Given the description of an element on the screen output the (x, y) to click on. 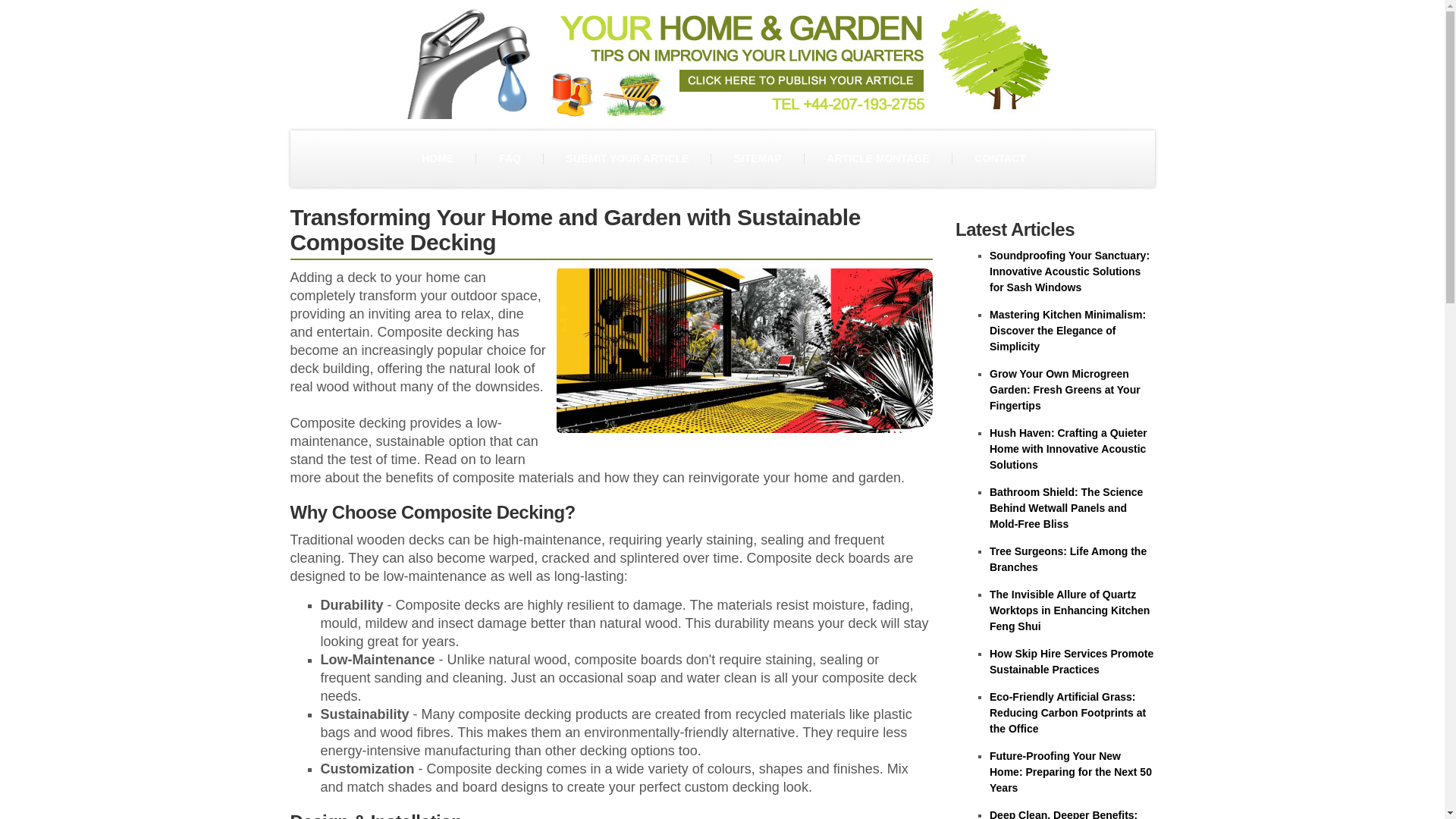
FAQ (509, 158)
SUBMIT YOUR ARTICLE (627, 158)
How Skip Hire Services Promote Sustainable Practices (1071, 661)
Tree Surgeons: Life Among the Branches (1068, 559)
SITEMAP (757, 158)
ARTICLE MONTAGE (877, 158)
CONTACT (1000, 158)
